Given the description of an element on the screen output the (x, y) to click on. 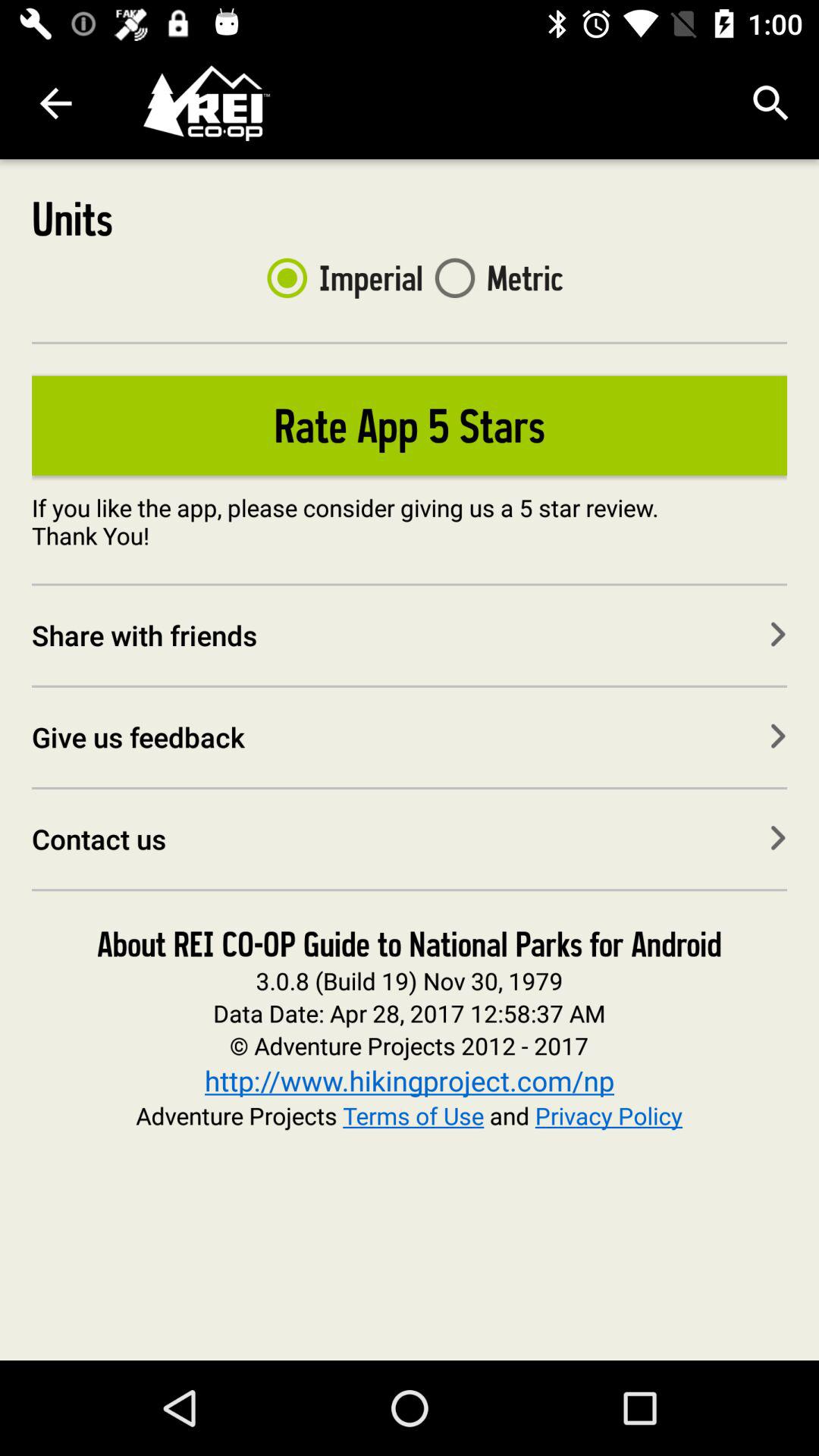
scroll until the contact us item (409, 838)
